Given the description of an element on the screen output the (x, y) to click on. 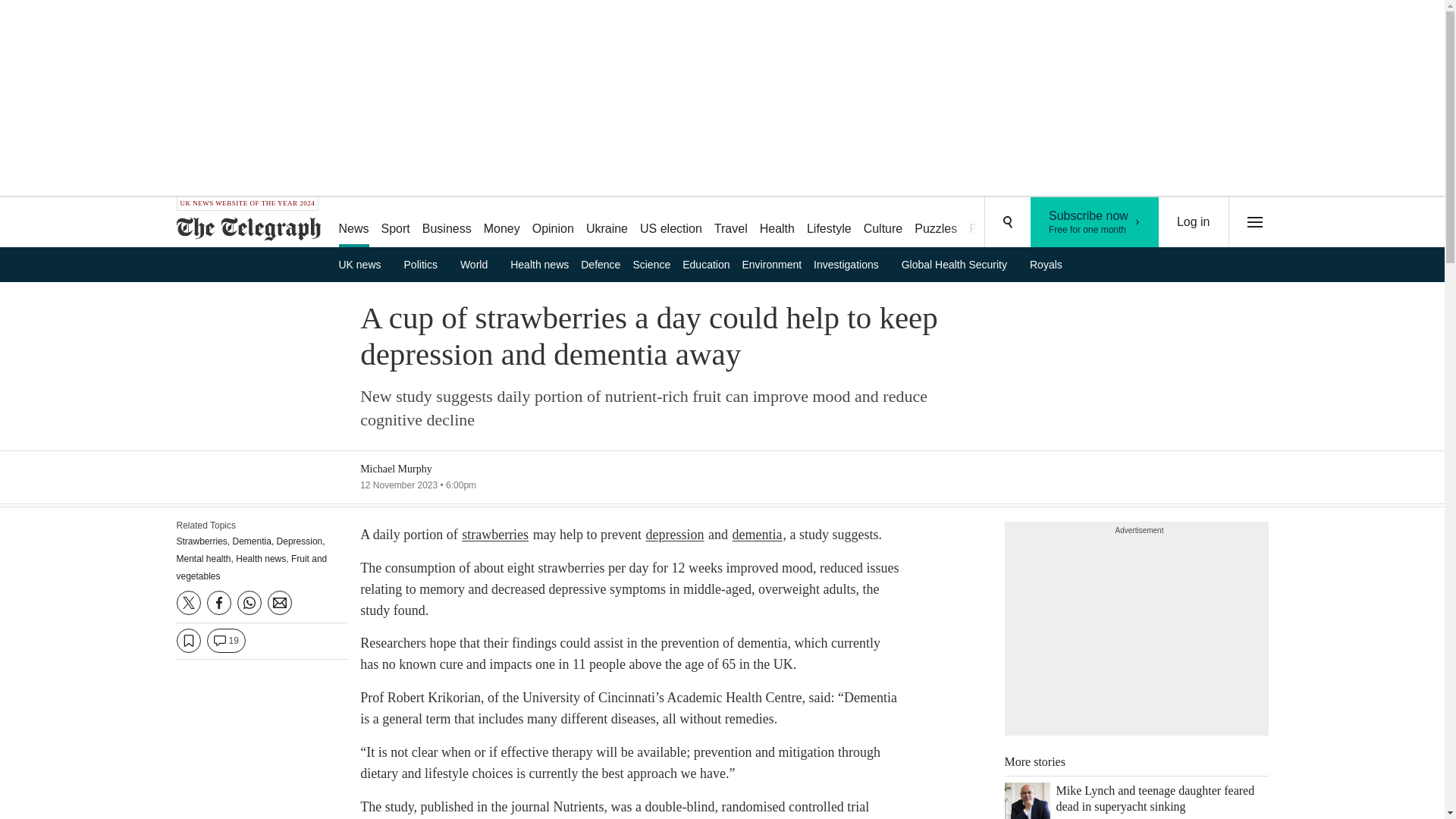
Health (777, 223)
US election (670, 223)
Travel (730, 223)
UK news (364, 264)
World (478, 264)
Lifestyle (828, 223)
Money (1094, 222)
Culture (501, 223)
Business (882, 223)
